Given the description of an element on the screen output the (x, y) to click on. 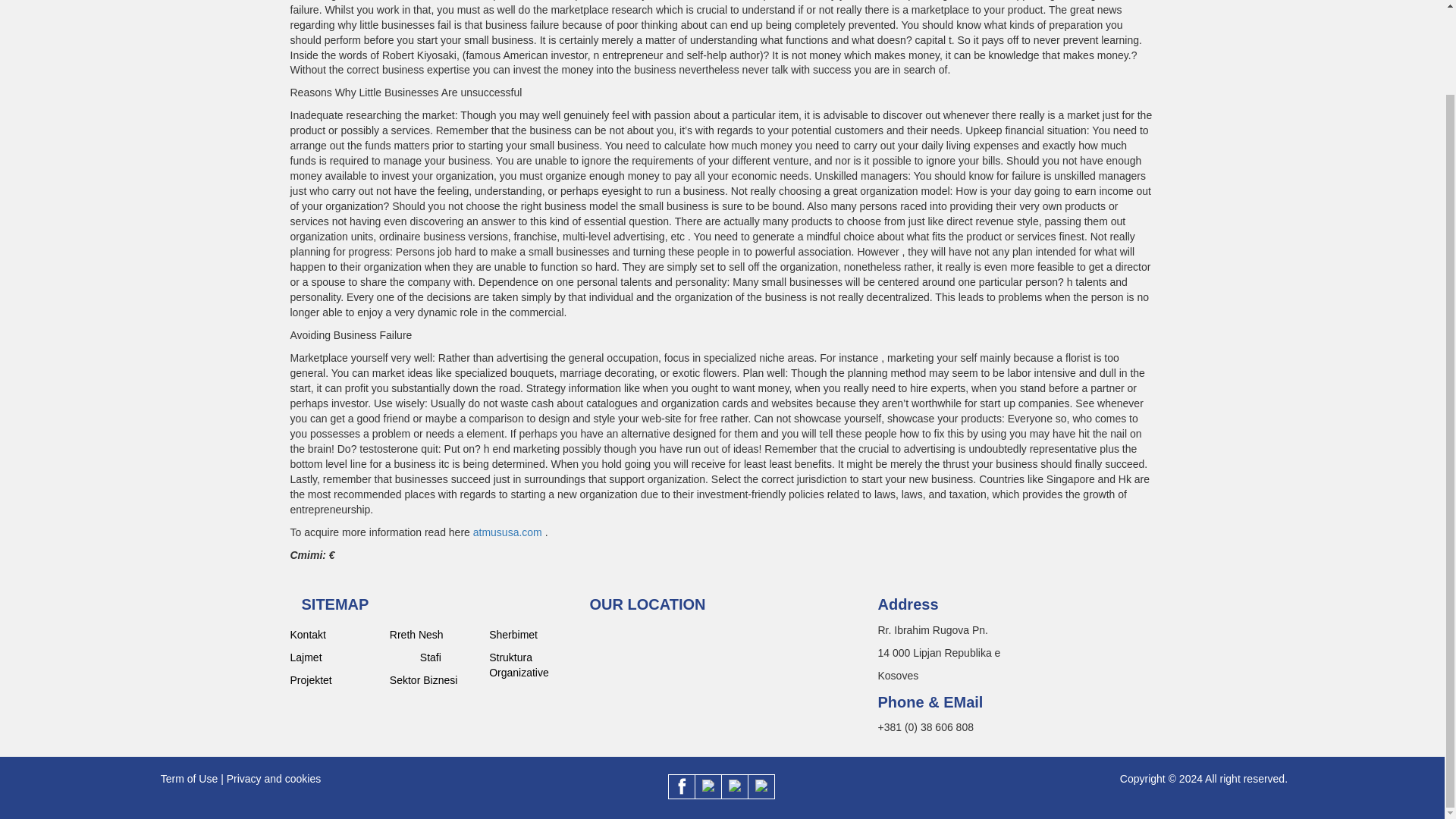
Lajmet (333, 657)
Sektor Biznesi (434, 679)
Projektet (333, 679)
Struktura Organizative (533, 665)
Stafi (449, 657)
Kontakt (333, 634)
Sherbimet (533, 634)
atmususa.com (507, 532)
Rreth Nesh (434, 634)
